Given the description of an element on the screen output the (x, y) to click on. 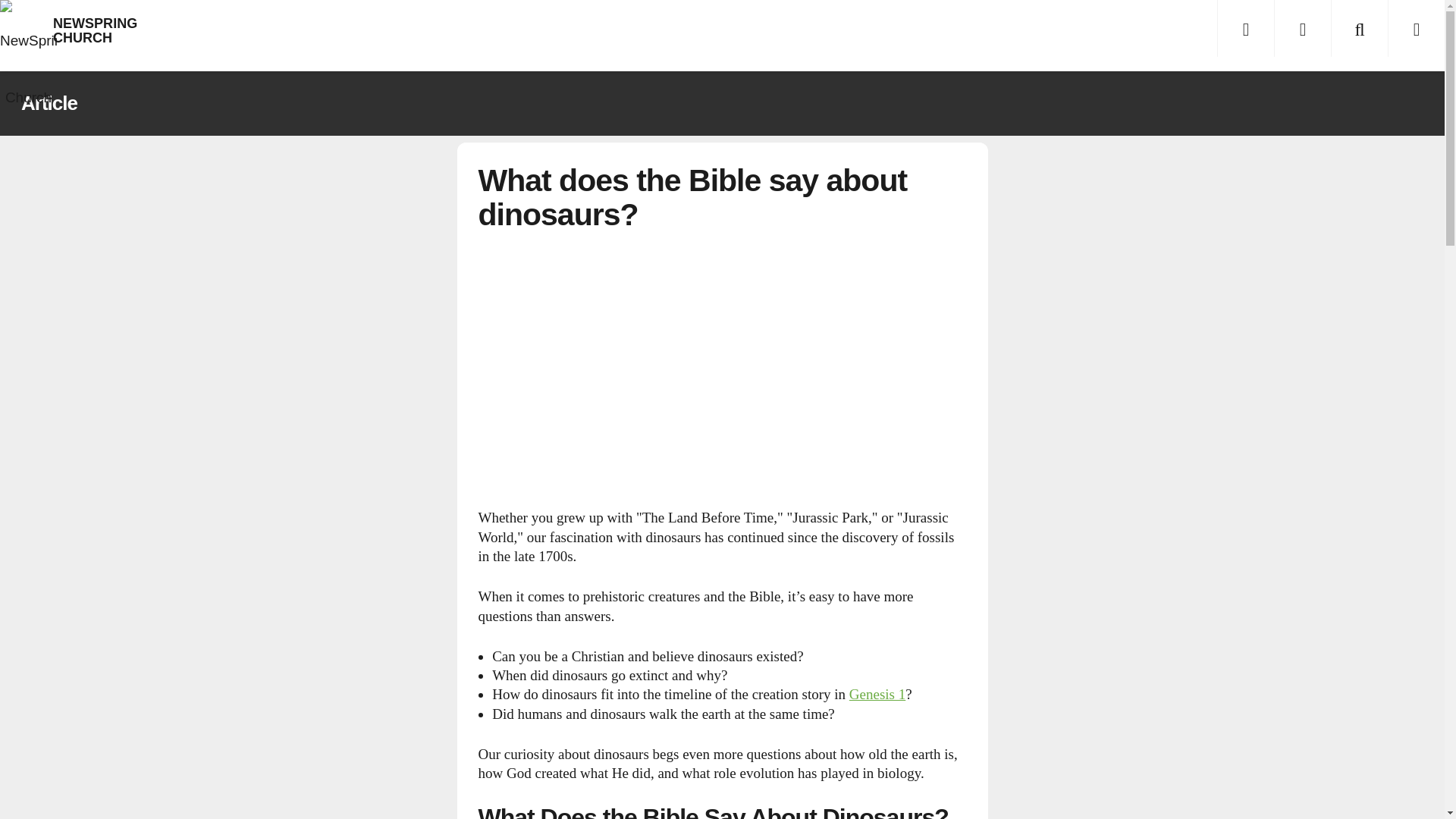
NEWSPRING CHURCH (28, 28)
Search (1358, 28)
Genesis 1 (876, 693)
Menu (1245, 28)
Bible Gateway (876, 693)
Locations (1302, 28)
